Given the description of an element on the screen output the (x, y) to click on. 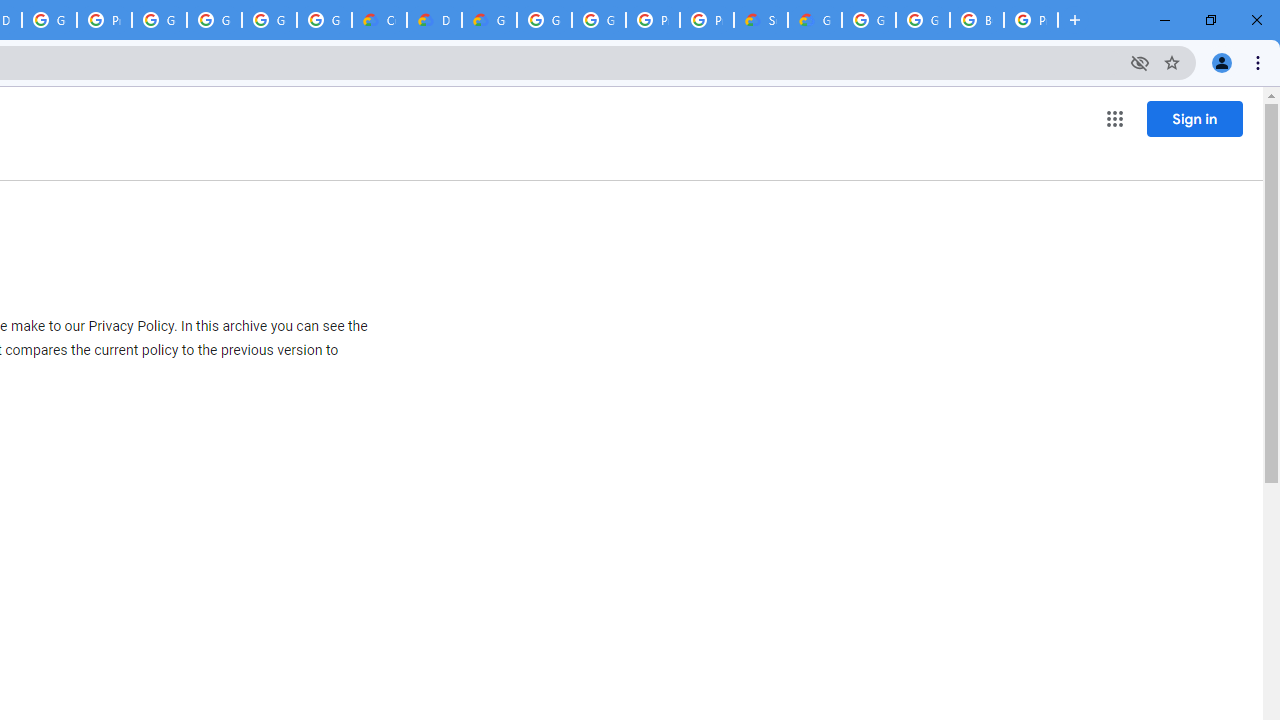
Support Hub | Google Cloud (760, 20)
Google Cloud Service Health (815, 20)
Google Cloud Platform (868, 20)
Google Workspace - Specific Terms (268, 20)
Google Cloud Platform (922, 20)
